Given the description of an element on the screen output the (x, y) to click on. 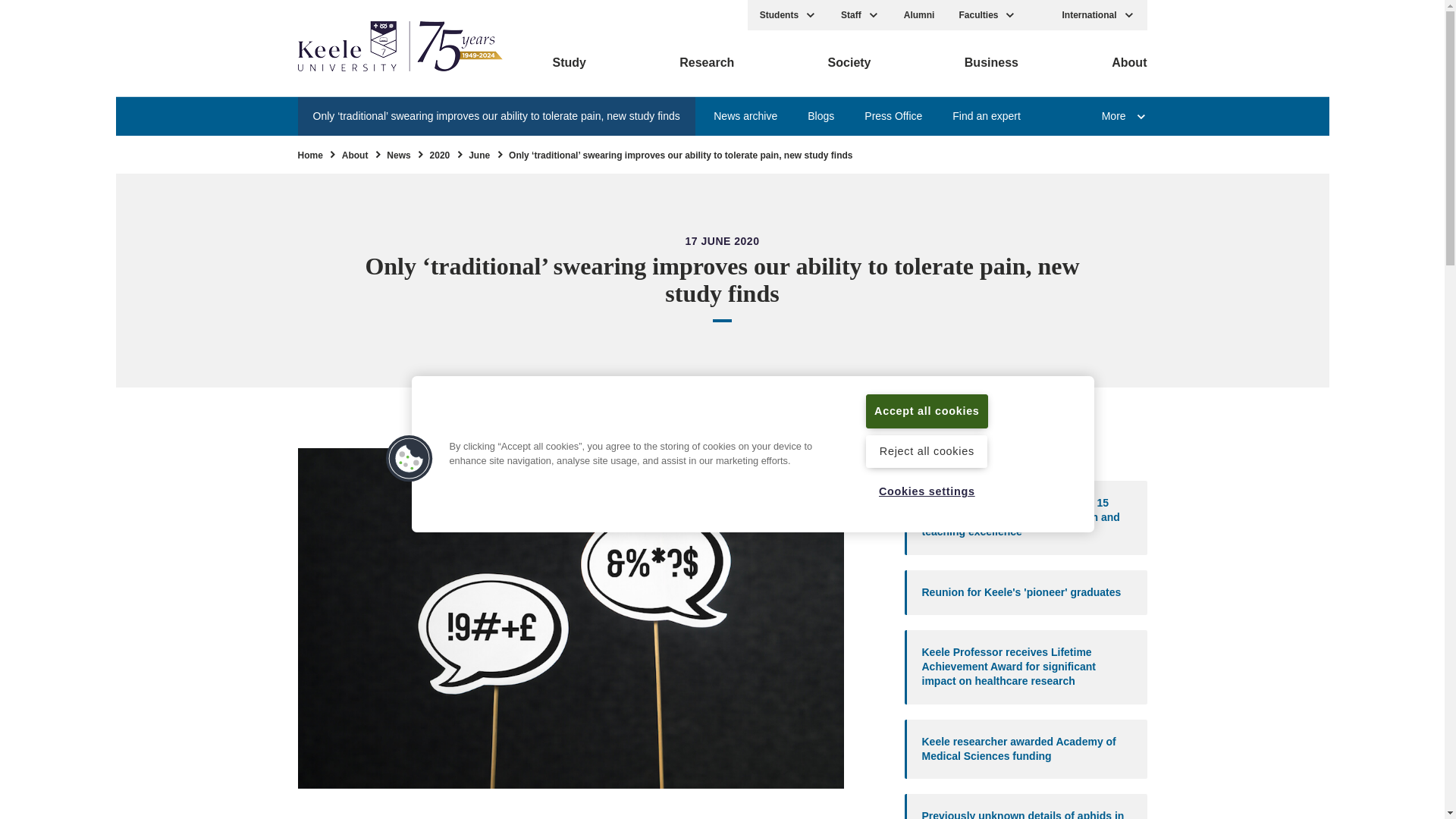
Students (788, 15)
Alumni (919, 15)
Faculties (986, 15)
Open the Search Bar (1038, 14)
Staff (859, 15)
International (1098, 15)
